Given the description of an element on the screen output the (x, y) to click on. 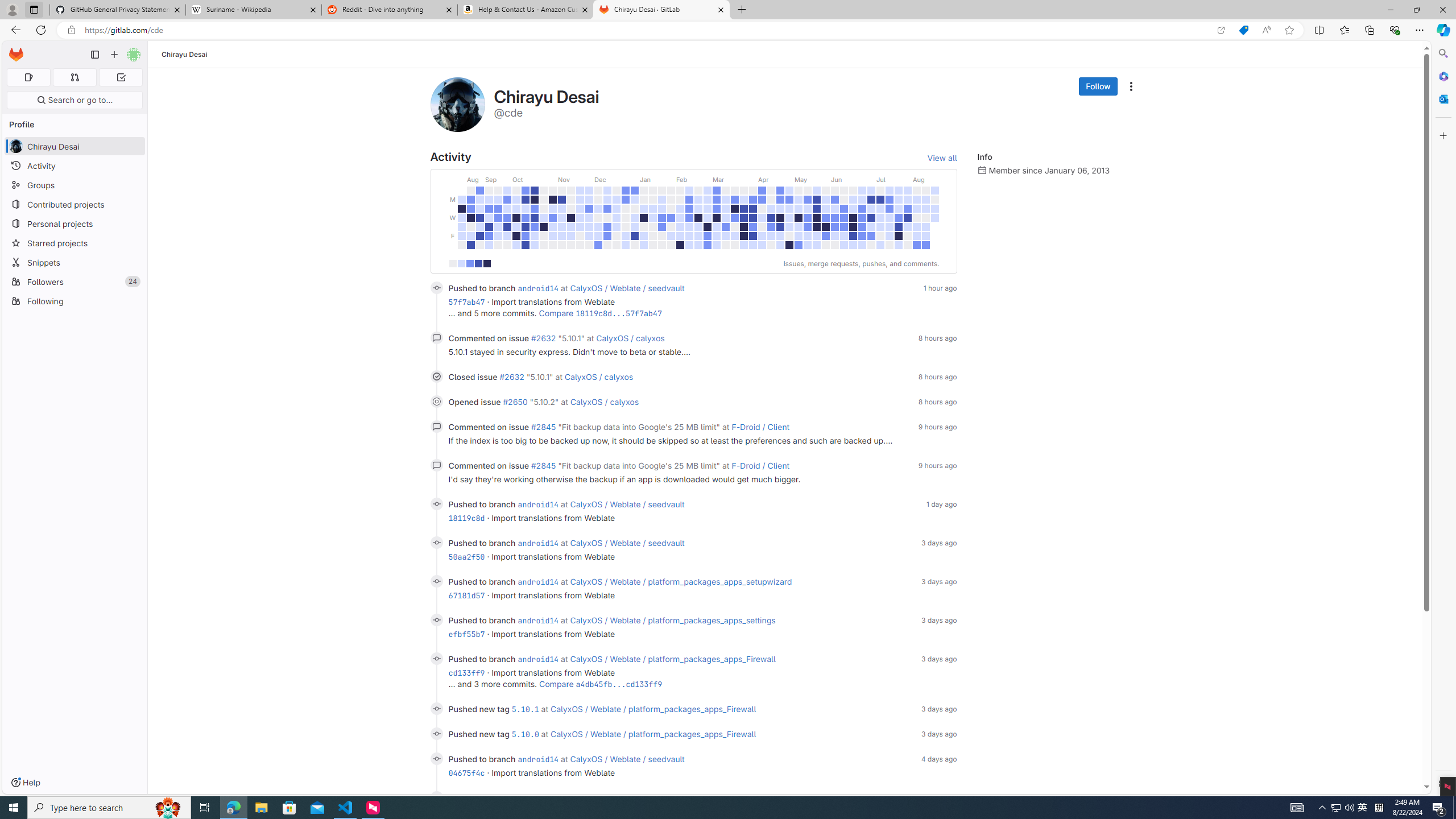
No contributions (452, 262)
F-Droid / Client (760, 465)
Merge requests 0 (74, 76)
